Given the description of an element on the screen output the (x, y) to click on. 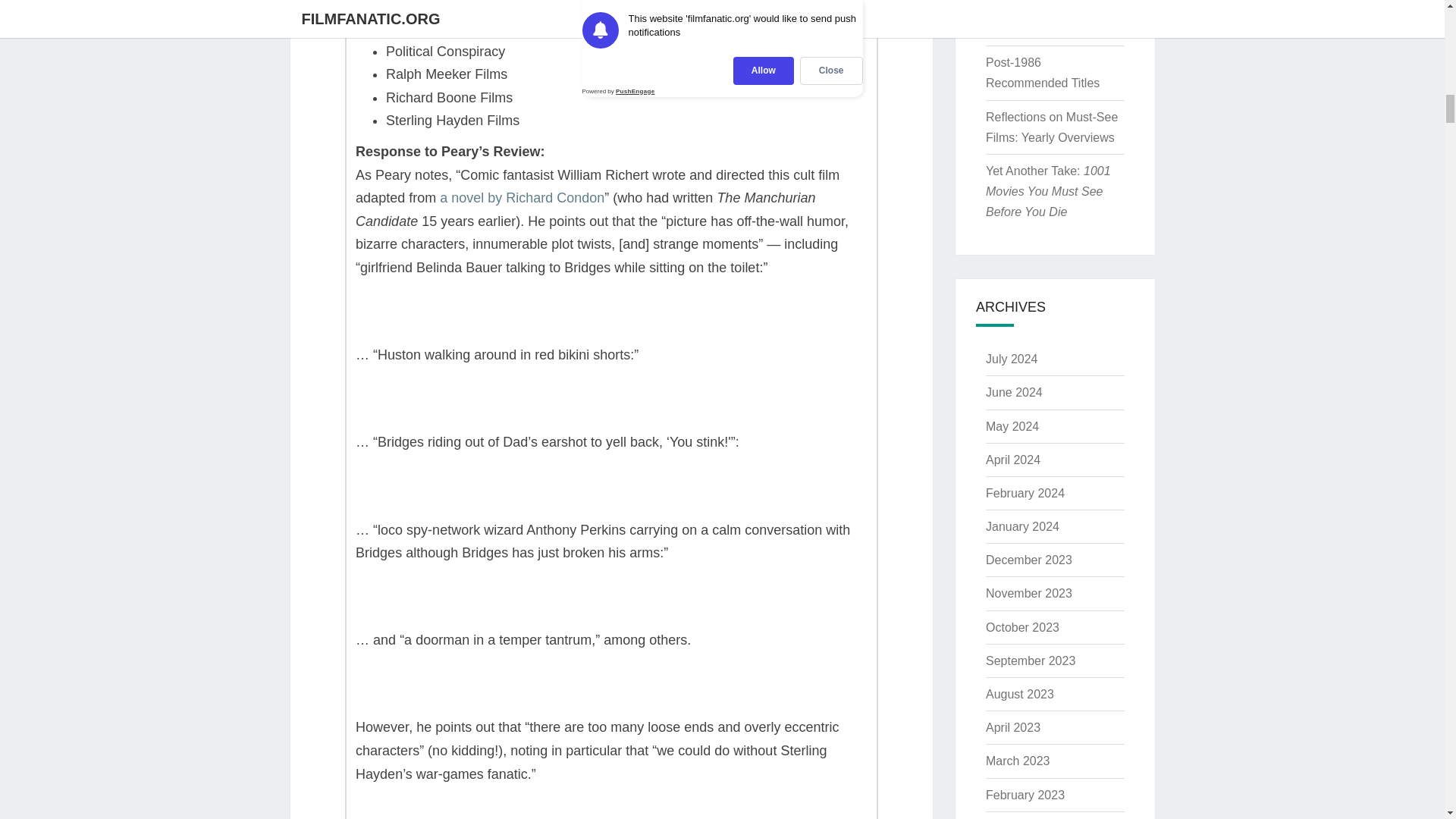
a novel by Richard Condon (521, 197)
